Given the description of an element on the screen output the (x, y) to click on. 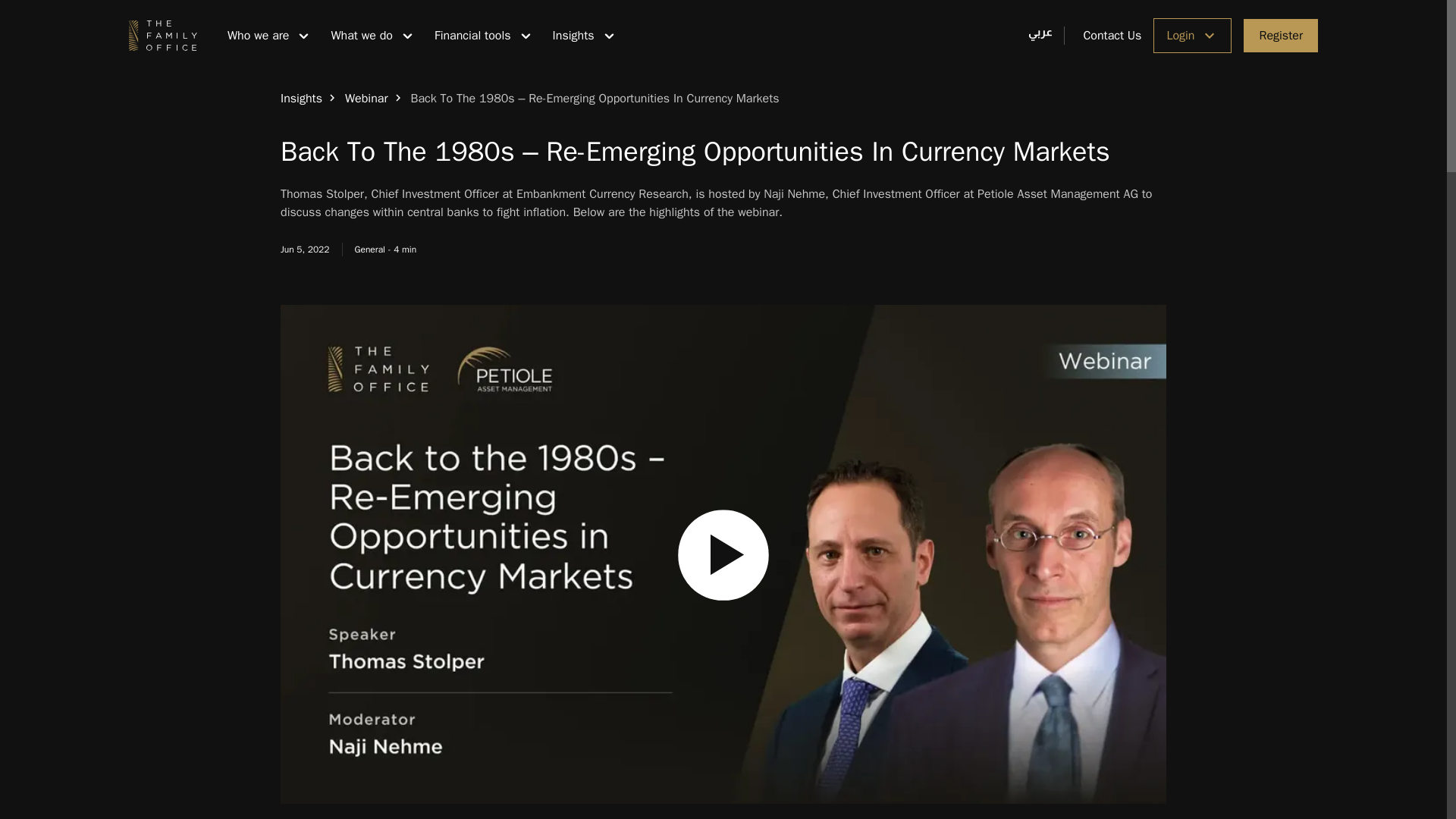
Login (1192, 35)
Insights (301, 98)
What we do (369, 35)
Webinar (366, 98)
Financial tools (480, 35)
Who we are (266, 35)
Register (1280, 35)
Contact Us (1102, 35)
Insights (582, 35)
